Given the description of an element on the screen output the (x, y) to click on. 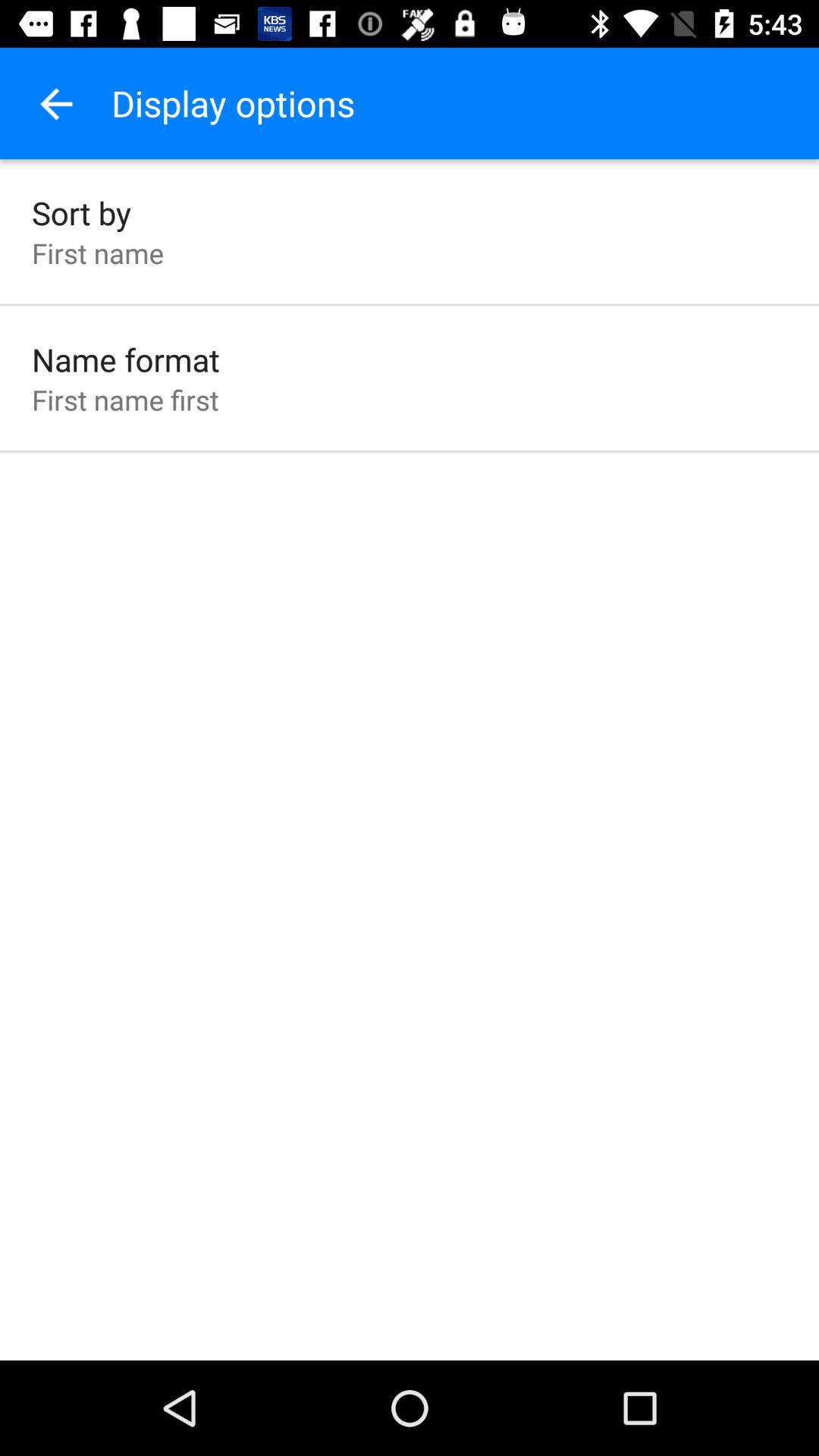
open item to the left of the display options item (55, 103)
